Given the description of an element on the screen output the (x, y) to click on. 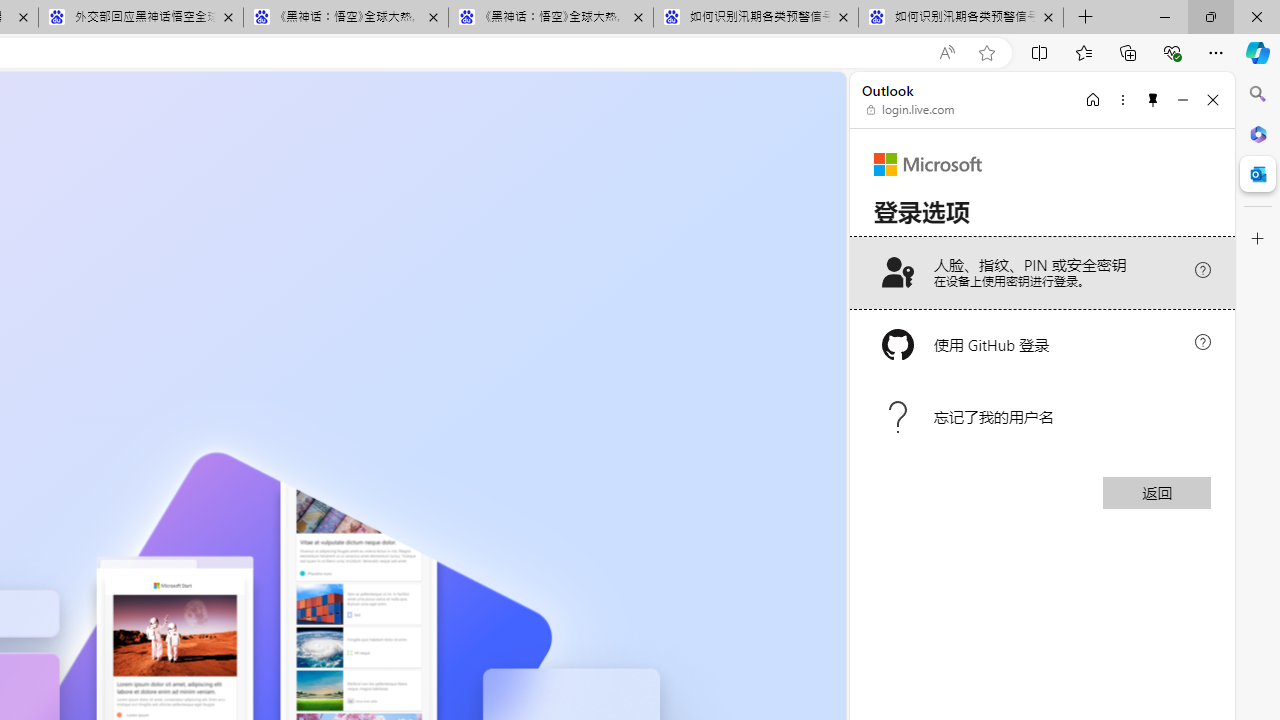
Unpin side pane (1153, 99)
